Given the description of an element on the screen output the (x, y) to click on. 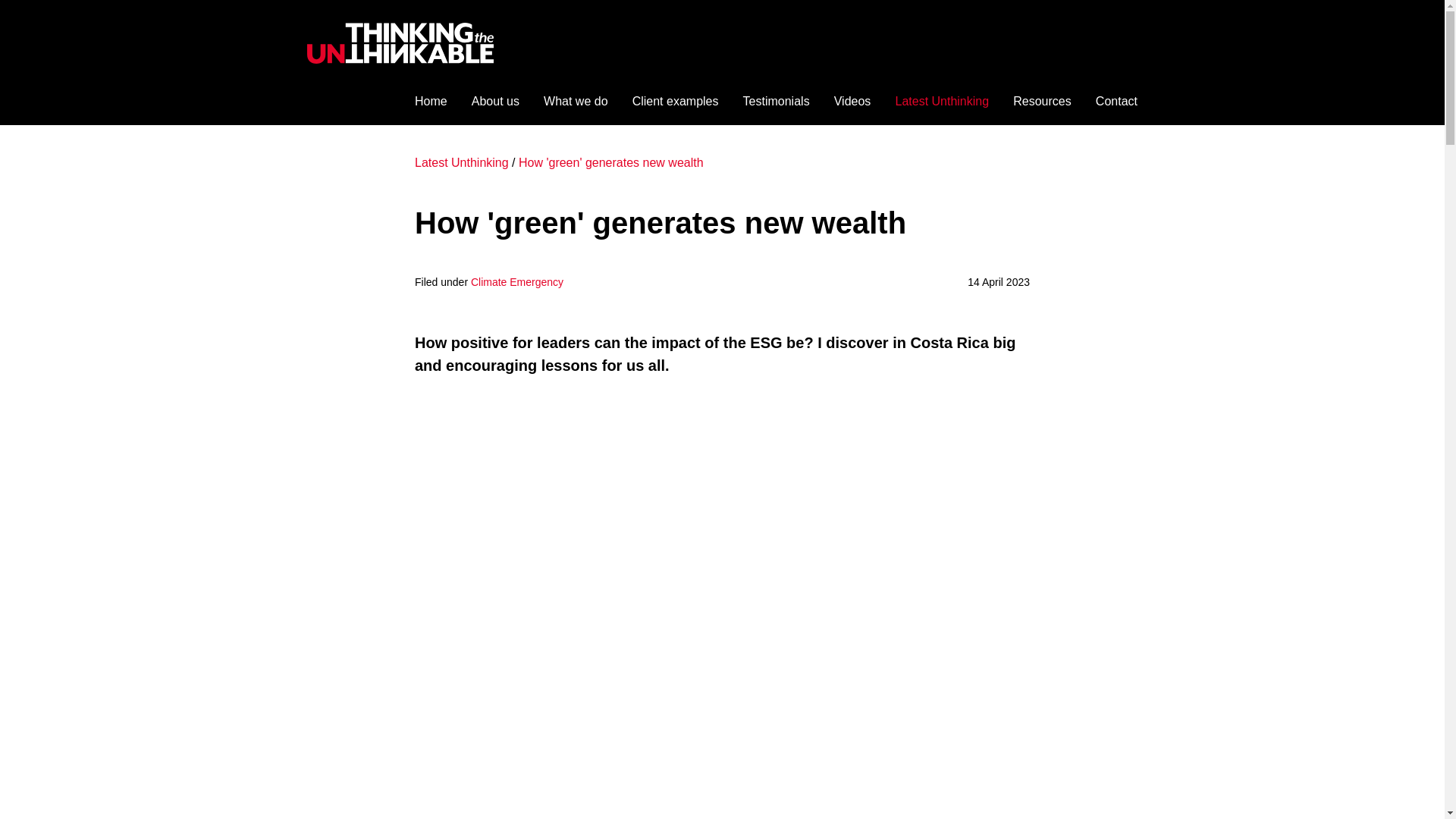
Latest Unthinking (941, 101)
Contact (1116, 101)
Resources (1041, 101)
Testimonials (775, 101)
Climate Emergency (516, 282)
About us (495, 101)
Videos (852, 101)
Home (430, 101)
What we do (575, 101)
How 'green' generates new wealth (610, 162)
Client examples (675, 101)
Latest Unthinking (461, 162)
